Given the description of an element on the screen output the (x, y) to click on. 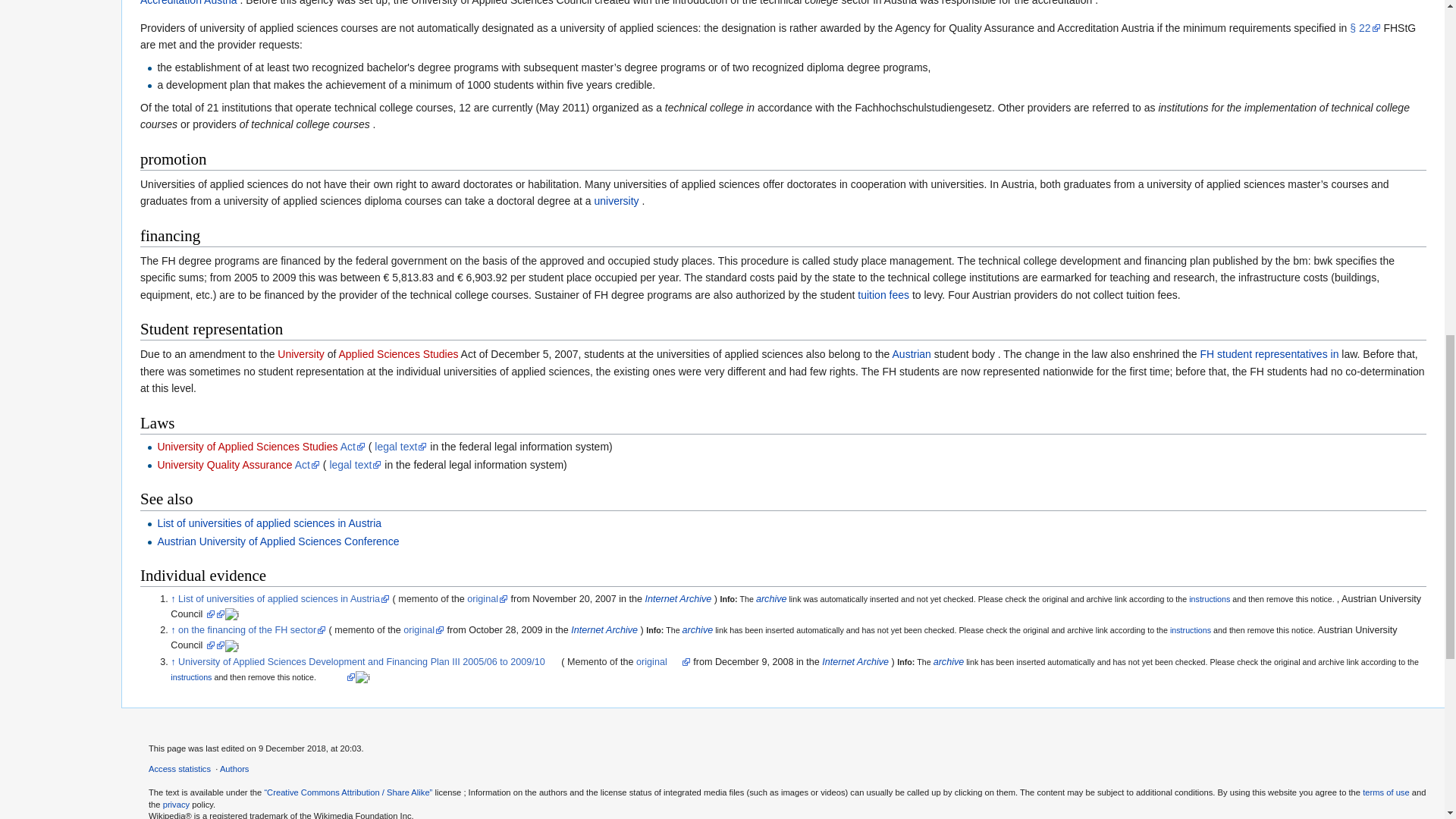
tuition fees (882, 295)
University (300, 354)
university (616, 200)
